Given the description of an element on the screen output the (x, y) to click on. 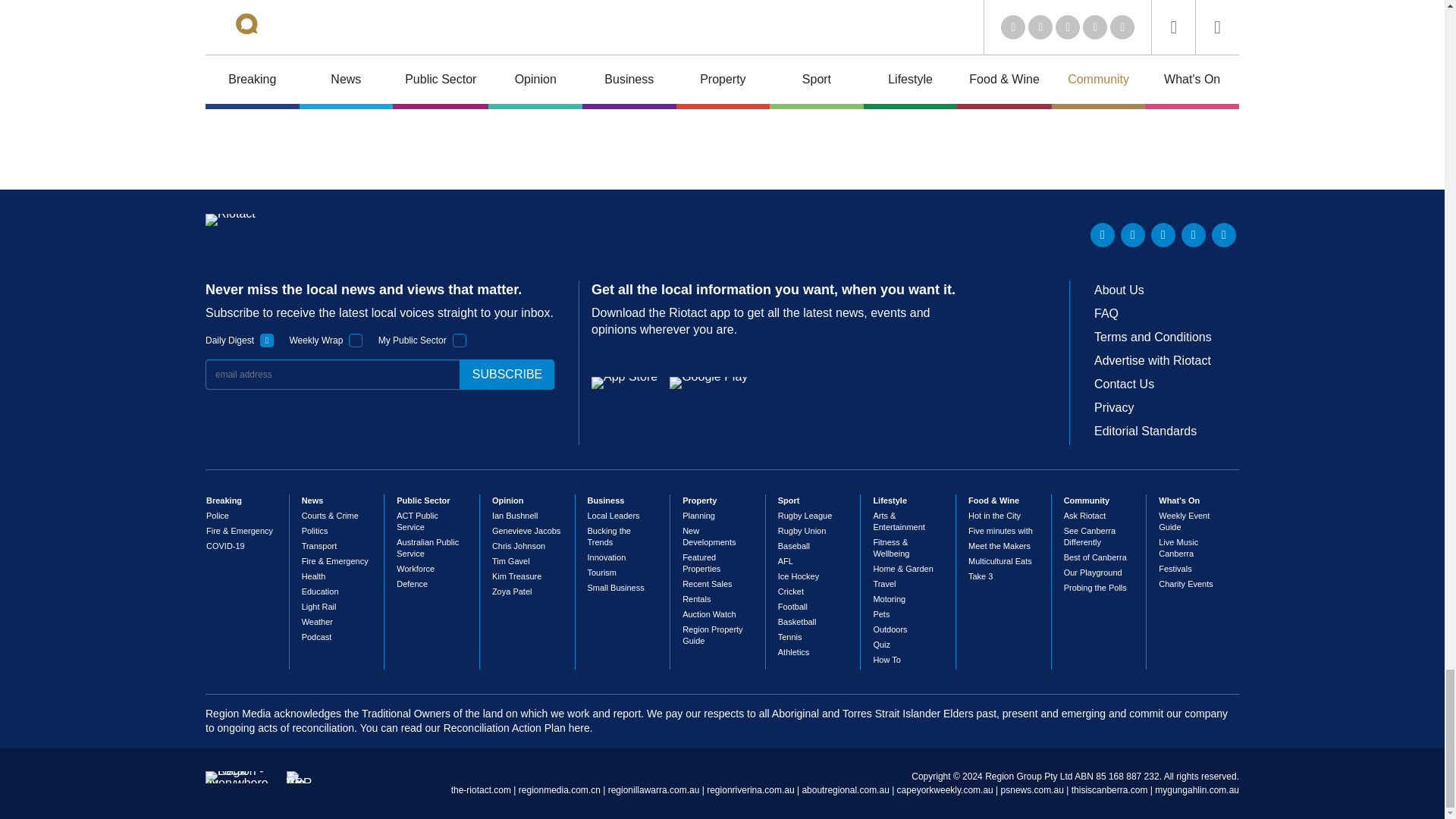
App Store (624, 382)
Facebook (1192, 234)
Youtube (1162, 234)
subscribe (507, 374)
Twitter (1132, 234)
Instagram (1223, 234)
LinkedIn (1102, 234)
1 (458, 340)
1 (355, 340)
1 (266, 340)
